Given the description of an element on the screen output the (x, y) to click on. 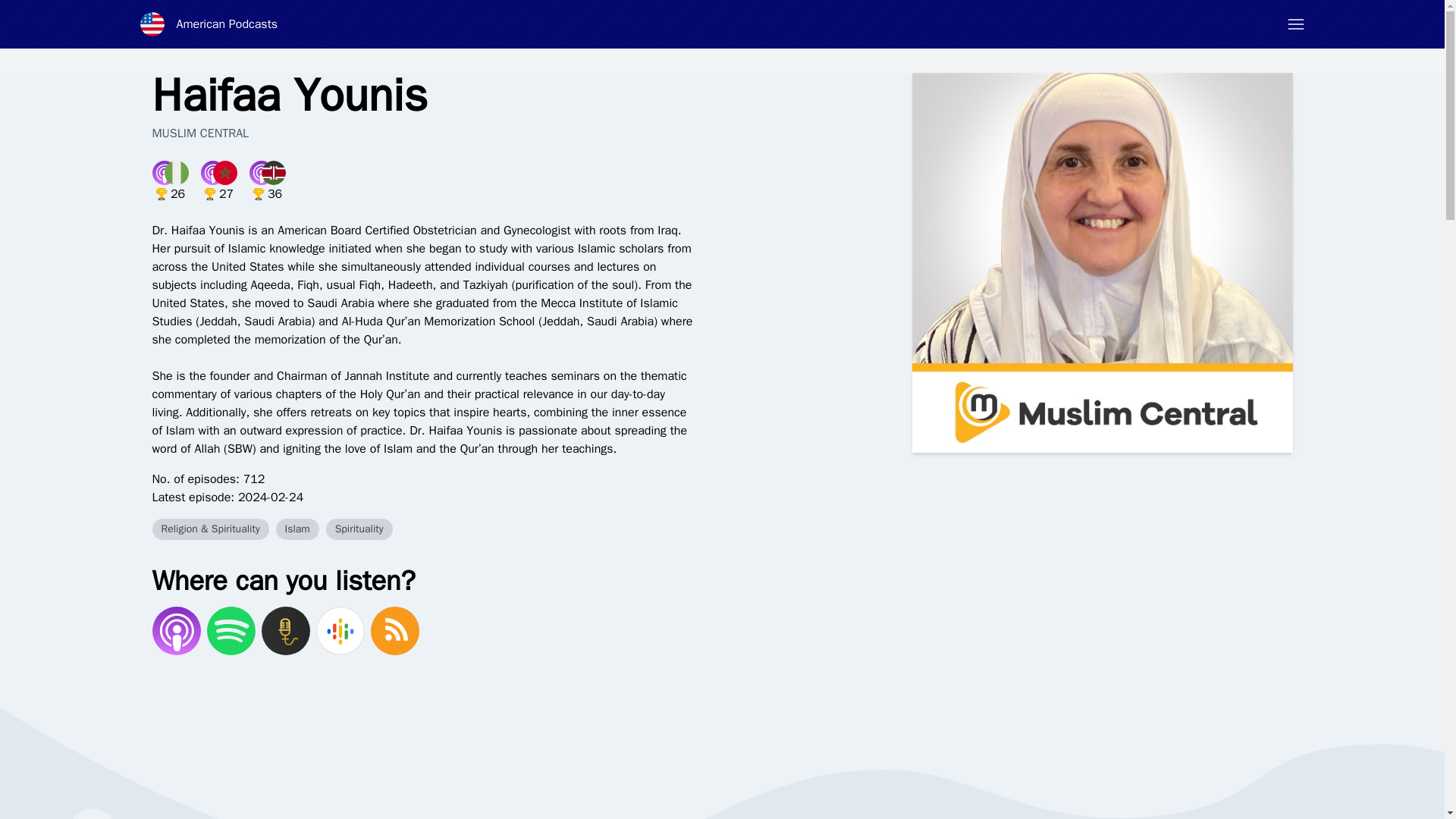
Islam (297, 528)
Spirituality (359, 528)
American Podcasts (208, 24)
American Podcasts (208, 24)
